Given the description of an element on the screen output the (x, y) to click on. 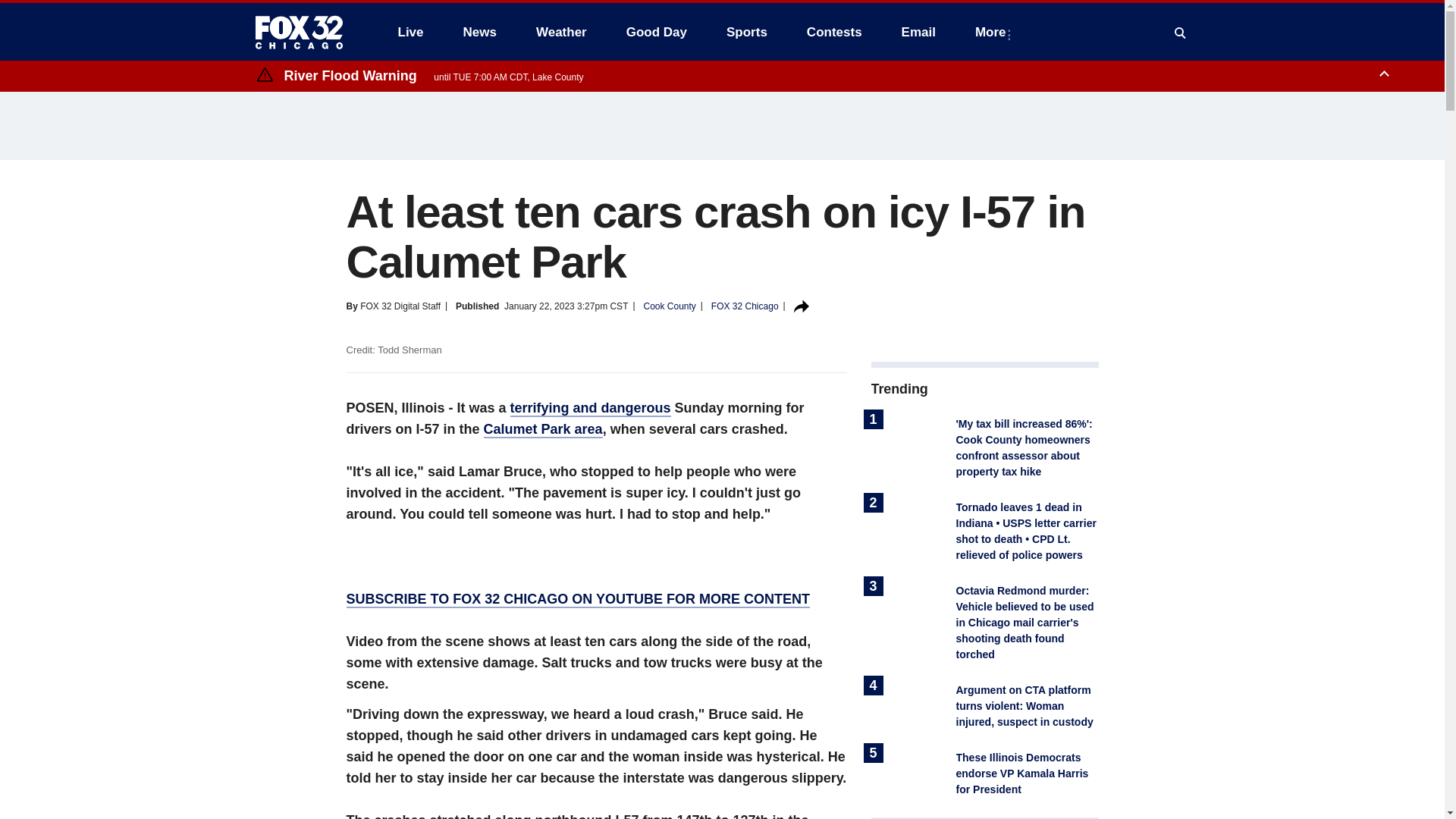
Good Day (656, 32)
News (479, 32)
Weather (561, 32)
Contests (834, 32)
More (993, 32)
Email (918, 32)
Sports (746, 32)
Live (410, 32)
